Given the description of an element on the screen output the (x, y) to click on. 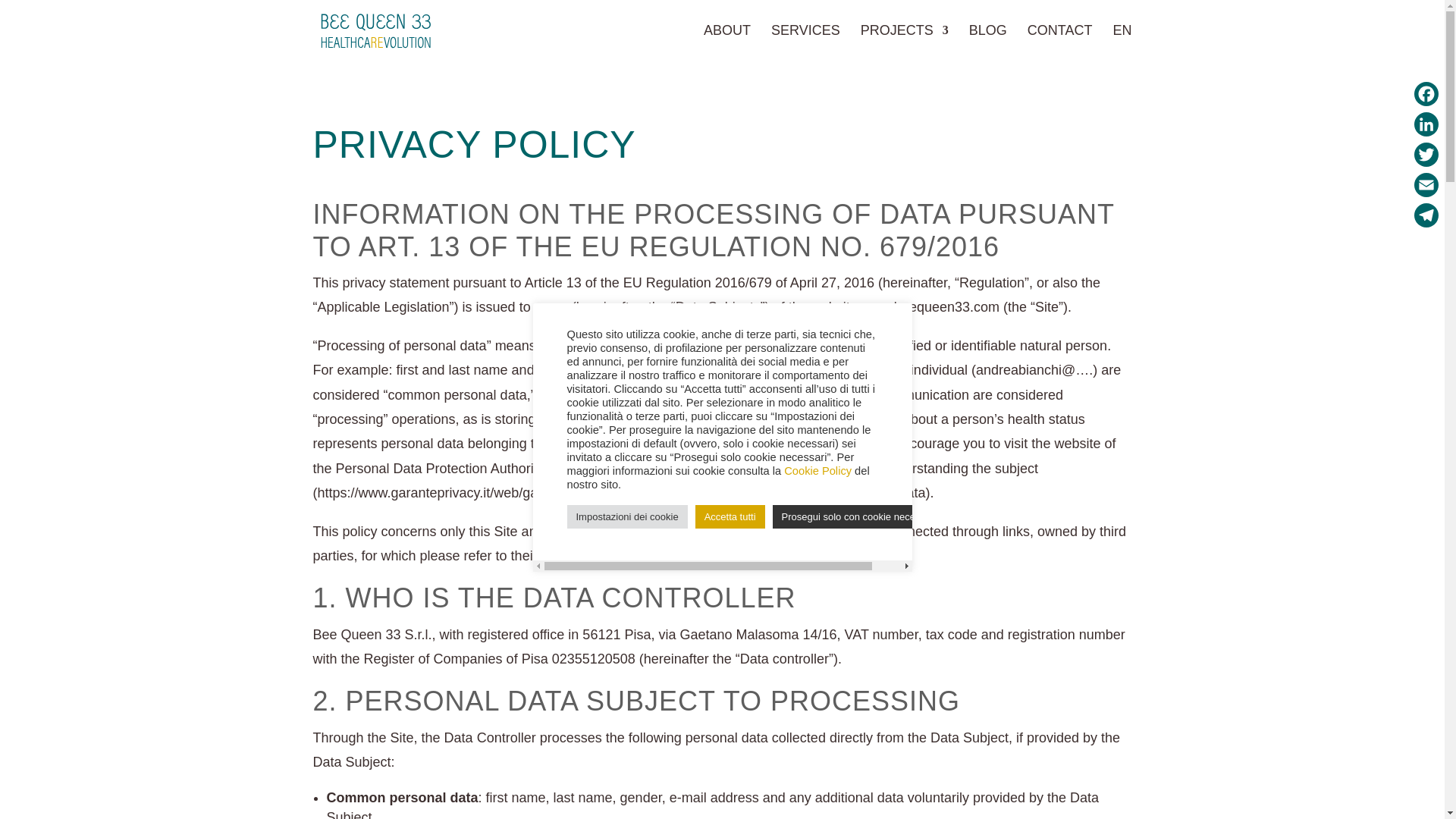
LinkedIn (1425, 123)
Cookie Policy (817, 469)
Telegram (1425, 214)
Prosegui solo con cookie necessari (858, 516)
LinkedIn (1425, 123)
PROJECTS (904, 42)
Impostazioni dei cookie (627, 516)
Accetta tutti (730, 516)
SERVICES (805, 42)
Facebook (1425, 93)
Telegram (1425, 214)
ABOUT (727, 42)
Twitter (1425, 154)
BLOG (988, 42)
CONTACT (1060, 42)
